Given the description of an element on the screen output the (x, y) to click on. 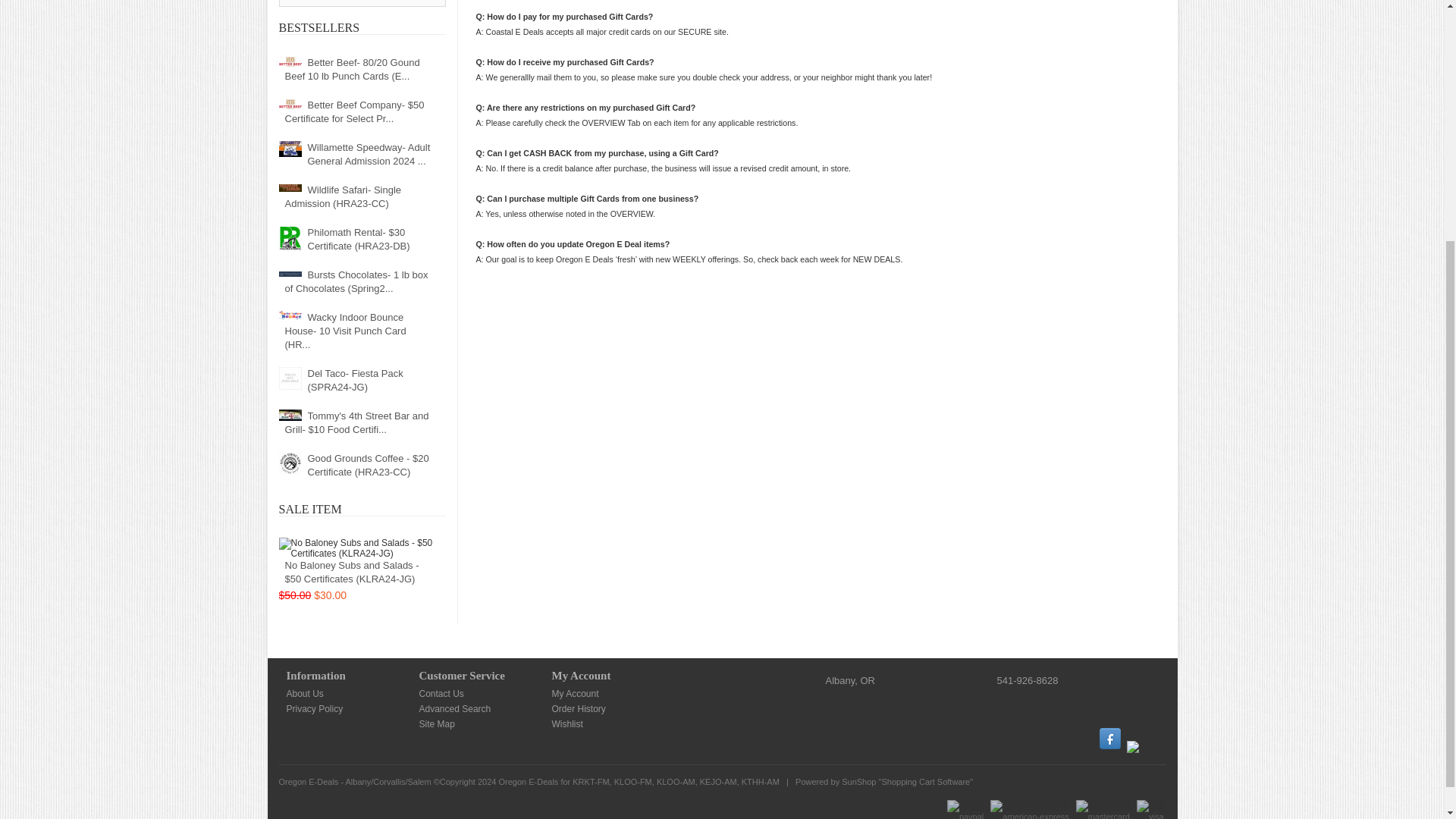
Facebook (1110, 738)
Ecommerce Shopping Cart Software (924, 781)
Willamette Speedway- Adult General Admission 2024 ... (355, 154)
Twitter (1146, 746)
